Given the description of an element on the screen output the (x, y) to click on. 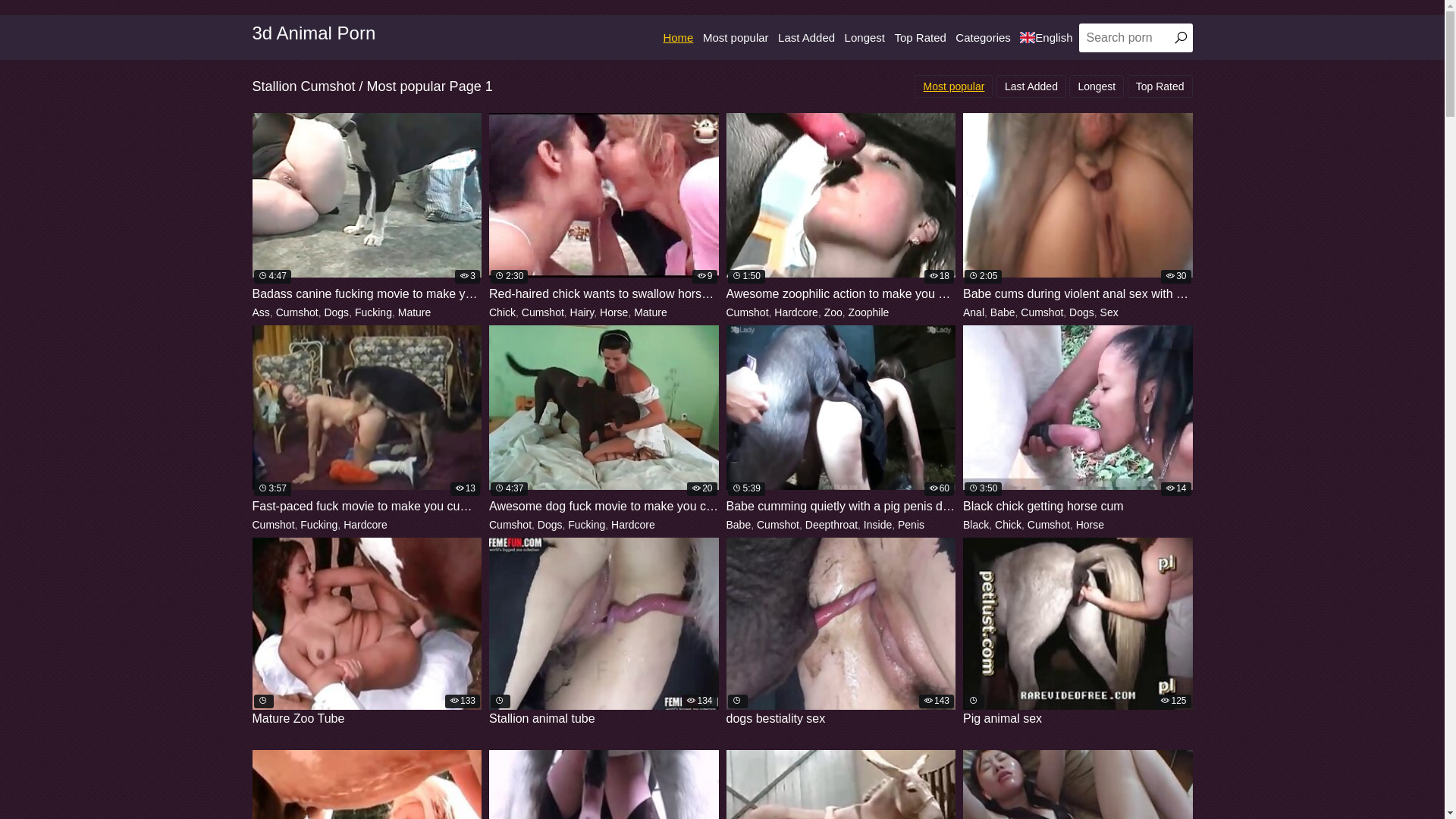
Cumshot Element type: text (272, 524)
Penis Element type: text (910, 524)
3:57
13
Fast-paced fuck movie to make you cum real hard Element type: text (366, 420)
1:50
18
Awesome zoophilic action to make you cum hard Element type: text (841, 207)
Zoophile Element type: text (868, 312)
Fucking Element type: text (373, 312)
Dogs Element type: text (1081, 312)
Longest Element type: text (1096, 86)
3d Animal Porn Element type: text (313, 32)
Ass Element type: text (260, 312)
Last Added Element type: text (1031, 86)
Dogs Element type: text (549, 524)
3:50
14
Black chick getting horse cum Element type: text (1077, 420)
Most popular Element type: text (953, 86)
Categories Element type: text (982, 37)
Most popular Element type: text (735, 37)
Dogs Element type: text (335, 312)
Fucking Element type: text (586, 524)
125
Pig animal sex Element type: text (1077, 632)
Sex Element type: text (1109, 312)
134
Stallion animal tube Element type: text (603, 632)
Cumshot Element type: text (297, 312)
Inside Element type: text (877, 524)
Chick Element type: text (1007, 524)
Cumshot Element type: text (510, 524)
Chick Element type: text (502, 312)
Hardcore Element type: text (365, 524)
Cumshot Element type: text (777, 524)
4:47
3
Badass canine fucking movie to make you cum Element type: text (366, 207)
Horse Element type: text (1090, 524)
Horse Element type: text (613, 312)
Cumshot Element type: text (747, 312)
2:05
30
Babe cums during violent anal sex with a dog Element type: text (1077, 207)
133
Mature Zoo Tube Element type: text (366, 632)
5:39
60
Babe cumming quietly with a pig penis deep inside Element type: text (841, 420)
Hardcore Element type: text (633, 524)
Anal Element type: text (973, 312)
Mature Element type: text (414, 312)
143
dogs bestiality sex Element type: text (841, 632)
English Element type: text (1045, 37)
Cumshot Element type: text (1041, 312)
Fucking Element type: text (318, 524)
Black Element type: text (975, 524)
Hairy Element type: text (582, 312)
2:30
9
Red-haired chick wants to swallow horse cum Element type: text (603, 207)
4:37
20
Awesome dog fuck movie to make you cum hard Element type: text (603, 420)
Zoo Element type: text (833, 312)
Cumshot Element type: text (1048, 524)
Top Rated Element type: text (1159, 86)
Home Element type: text (677, 37)
Babe Element type: text (738, 524)
Top Rated Element type: text (919, 37)
Last Added Element type: text (806, 37)
Longest Element type: text (864, 37)
Babe Element type: text (1002, 312)
Cumshot Element type: text (542, 312)
Hardcore Element type: text (796, 312)
Mature Element type: text (650, 312)
Deepthroat Element type: text (831, 524)
